Given the description of an element on the screen output the (x, y) to click on. 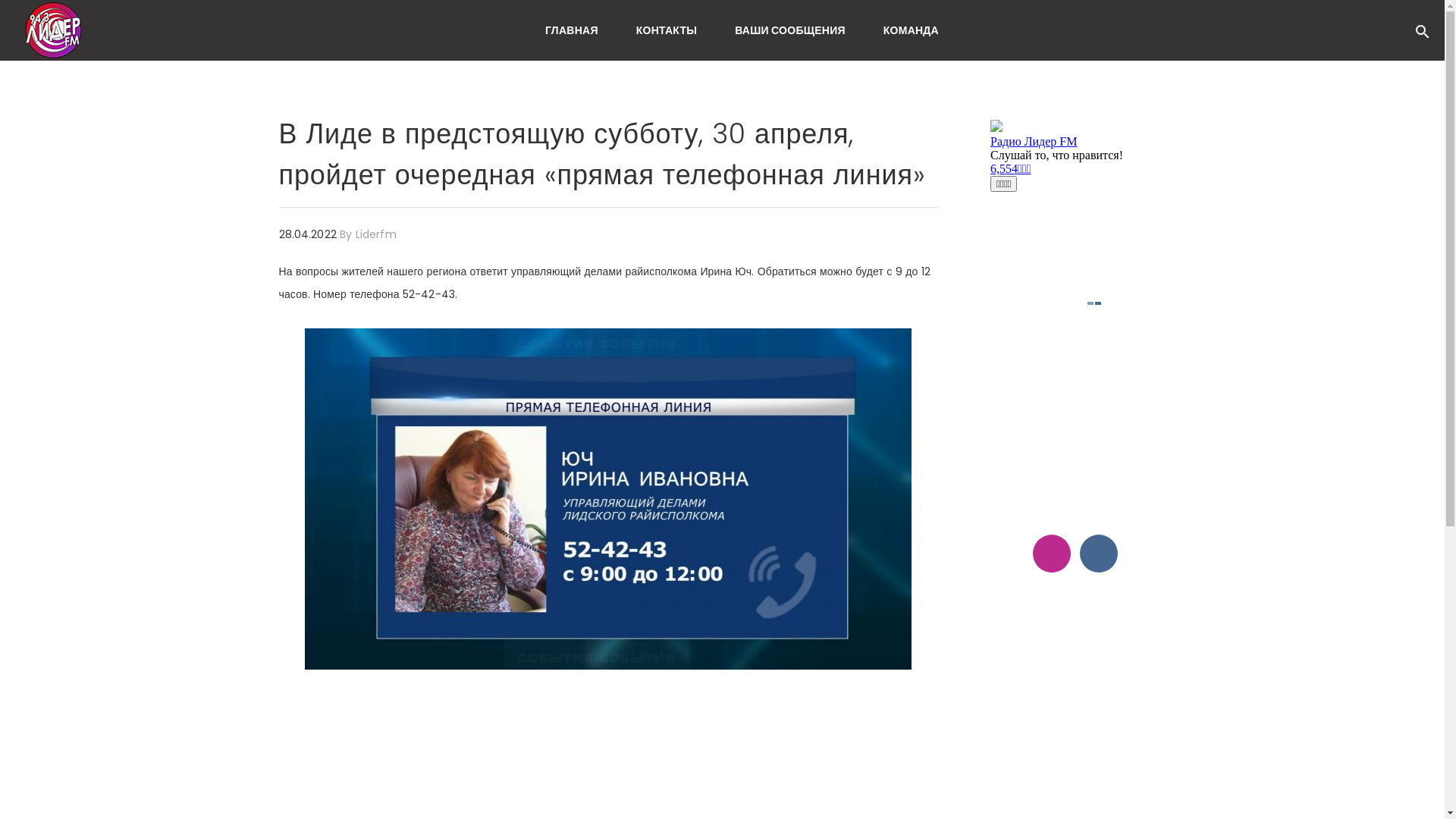
Vk Element type: hover (1098, 553)
Instagram Element type: hover (1051, 553)
28.04.2022 Element type: text (309, 233)
Search Element type: text (1444, 27)
Liderfm Element type: text (375, 233)
